Given the description of an element on the screen output the (x, y) to click on. 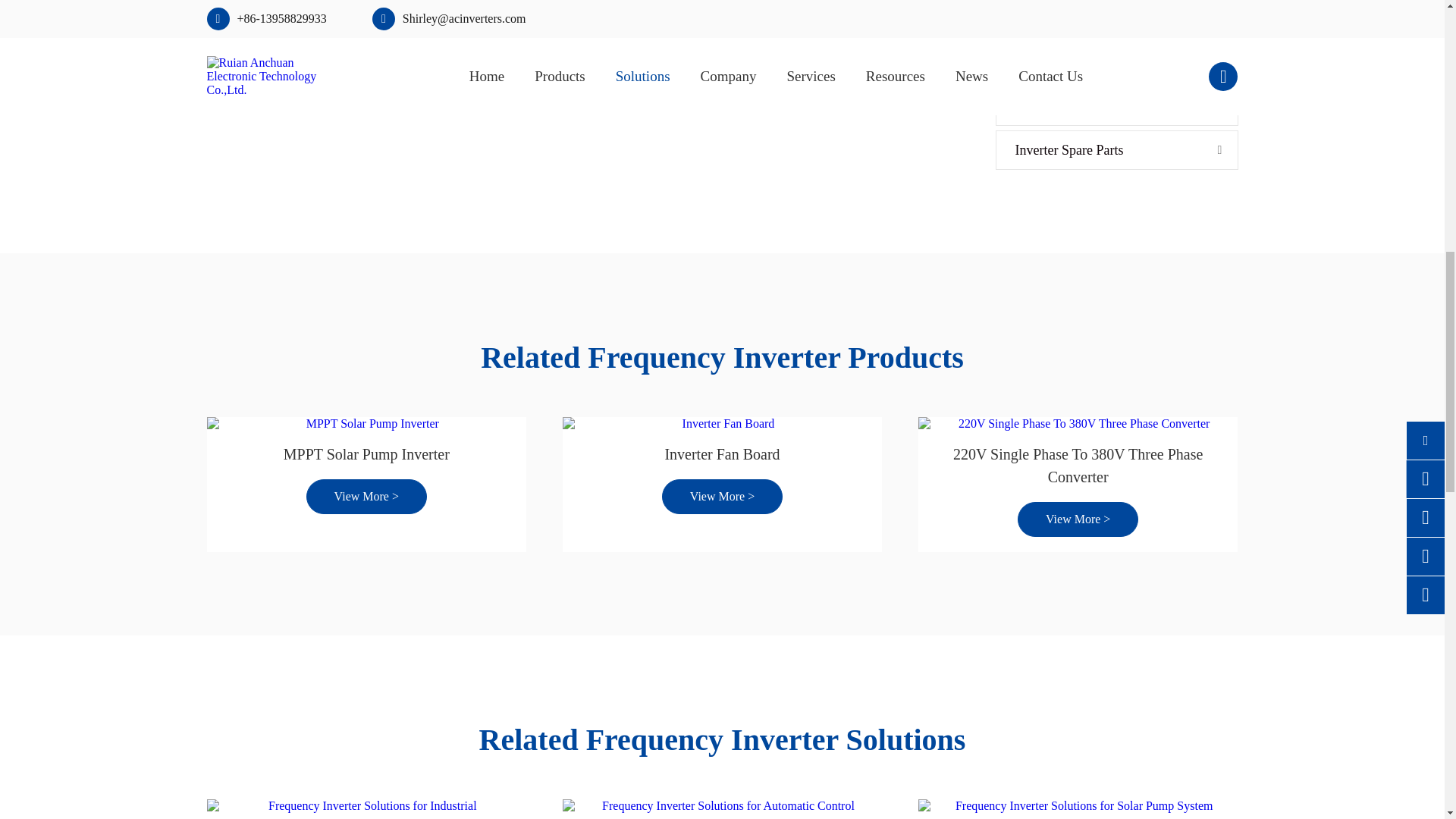
Frequency Inverter Solutions for Industrial (365, 806)
220V Single Phase To 380V Three Phase Converter (1078, 423)
MPPT Solar Pump Inverter (365, 423)
Frequency Inverter Solutions for Automatic Control (722, 806)
Frequency Inverter Solutions for Marine (578, 45)
Frequency Inverter Solutions for Solar Pump System (1078, 806)
Inverter Fan Board (722, 423)
